Given the description of an element on the screen output the (x, y) to click on. 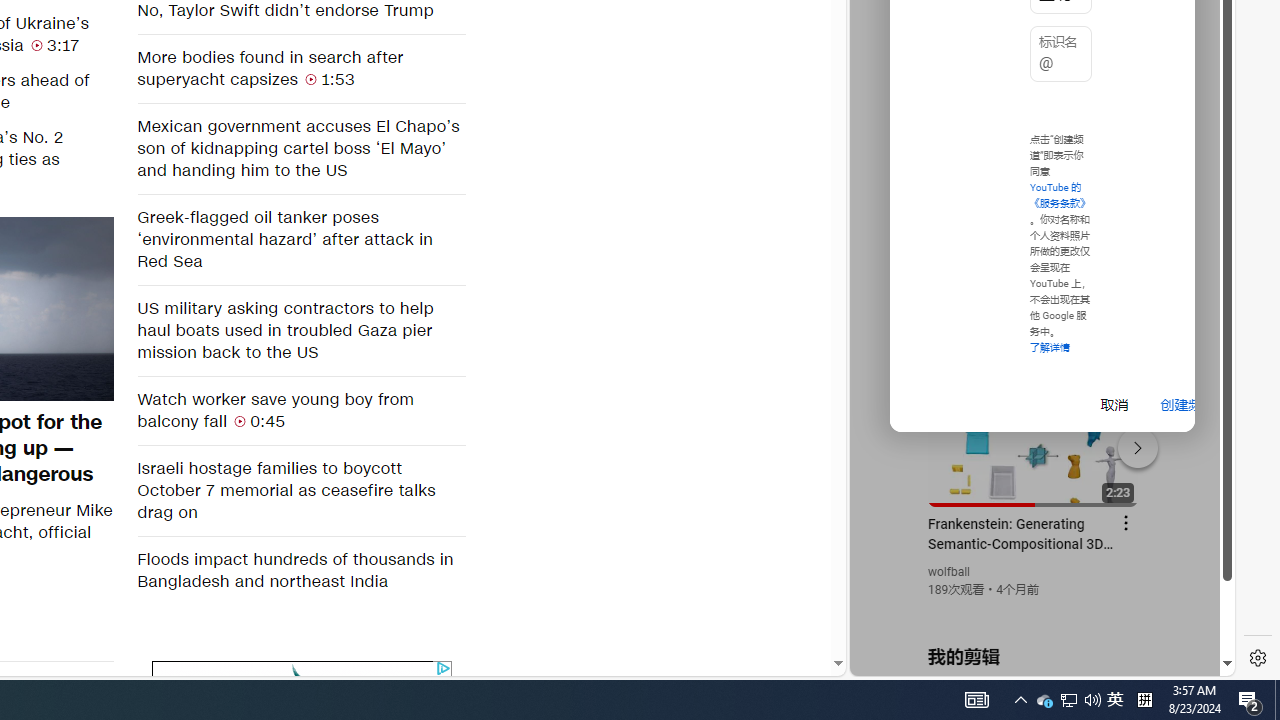
Class: dict_pnIcon rms_img (1028, 660)
you (1034, 609)
wolfball (949, 572)
